Given the description of an element on the screen output the (x, y) to click on. 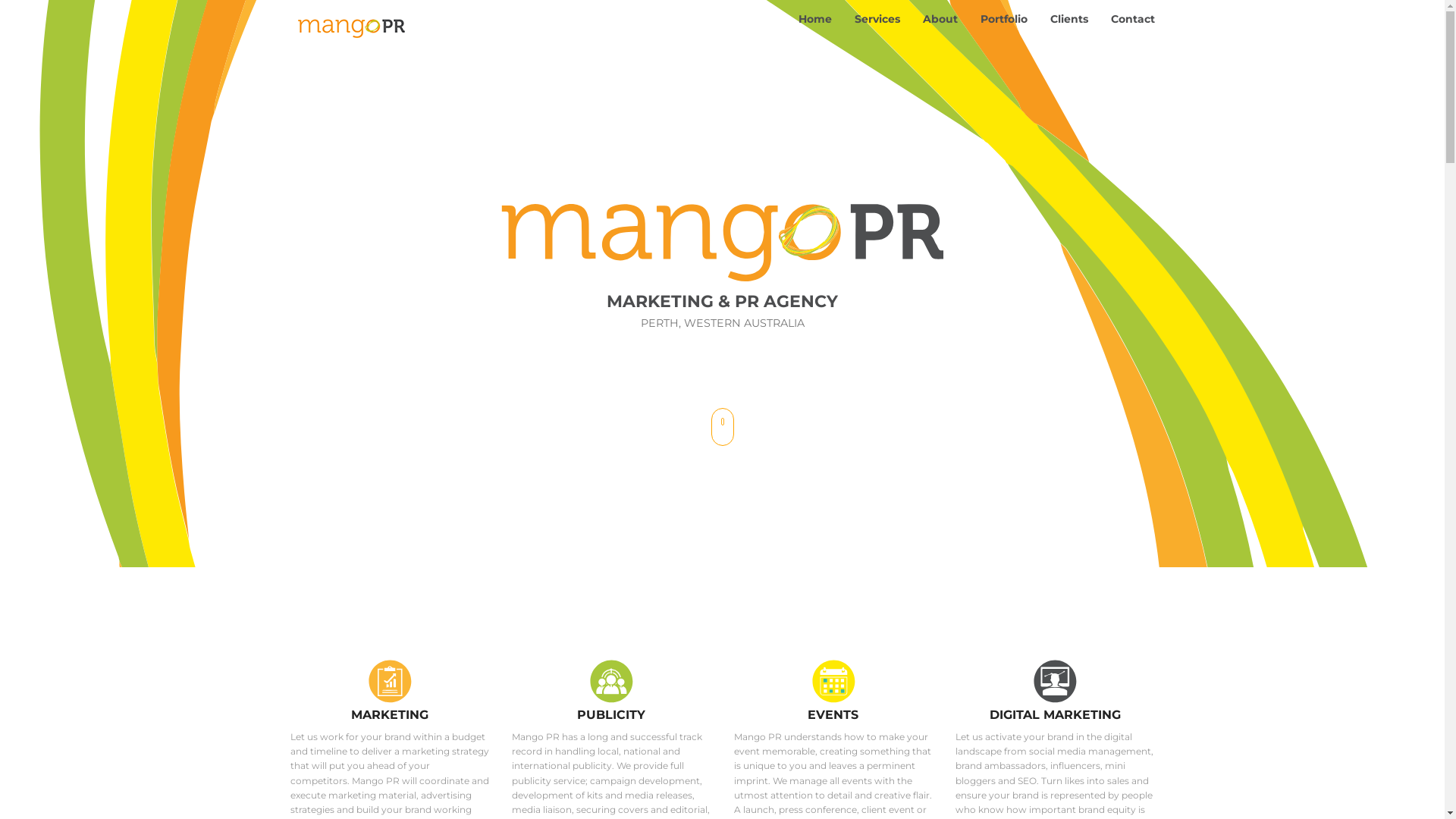
Home Element type: text (815, 18)
Contact Element type: text (1132, 18)
Services Element type: text (877, 18)
About Element type: text (940, 18)
Portfolio Element type: text (1003, 18)
Clients Element type: text (1068, 18)
